Given the description of an element on the screen output the (x, y) to click on. 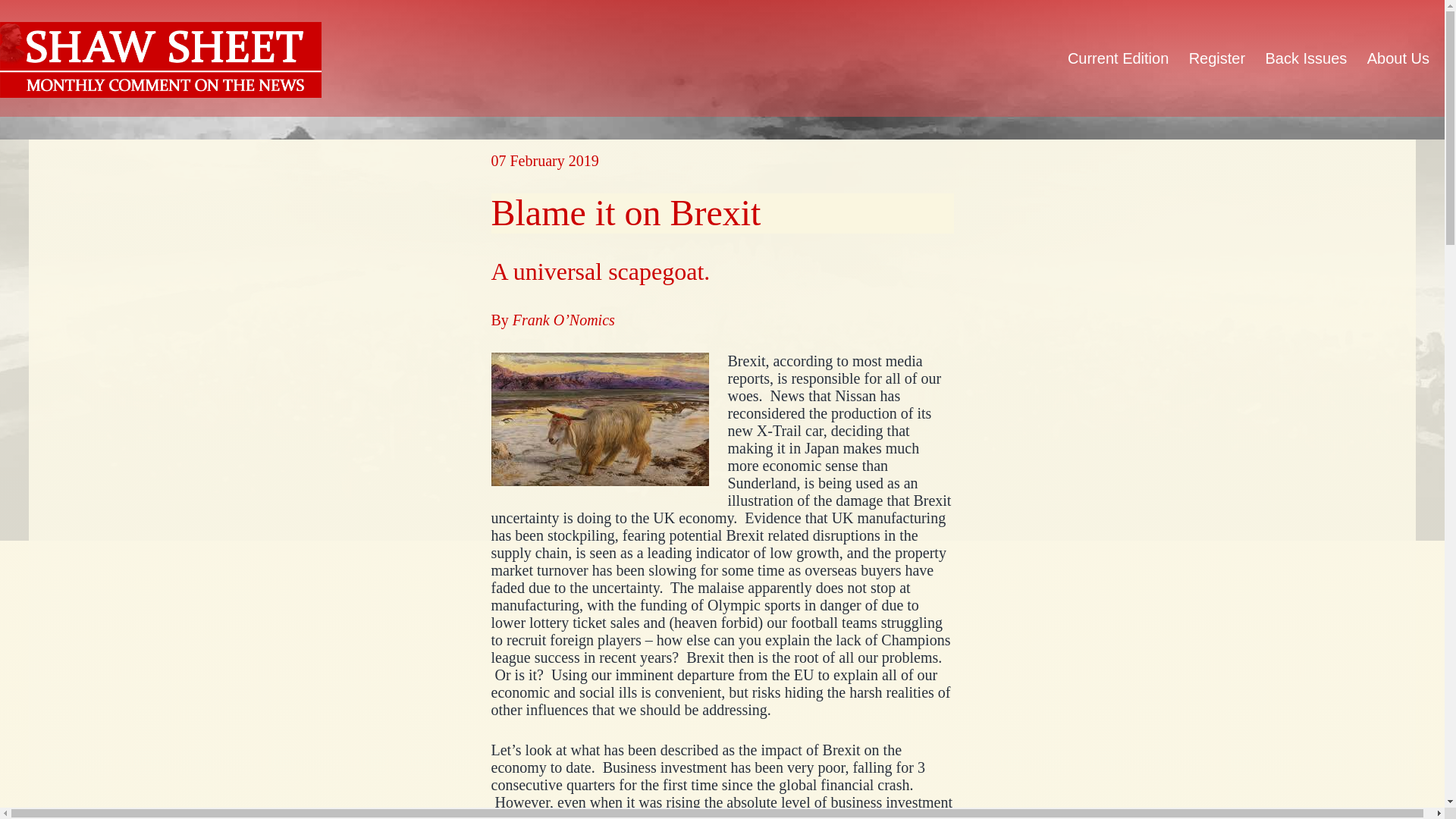
Back Issues (1305, 57)
About Us (1397, 57)
Current Edition (1118, 57)
Register (1216, 57)
